Given the description of an element on the screen output the (x, y) to click on. 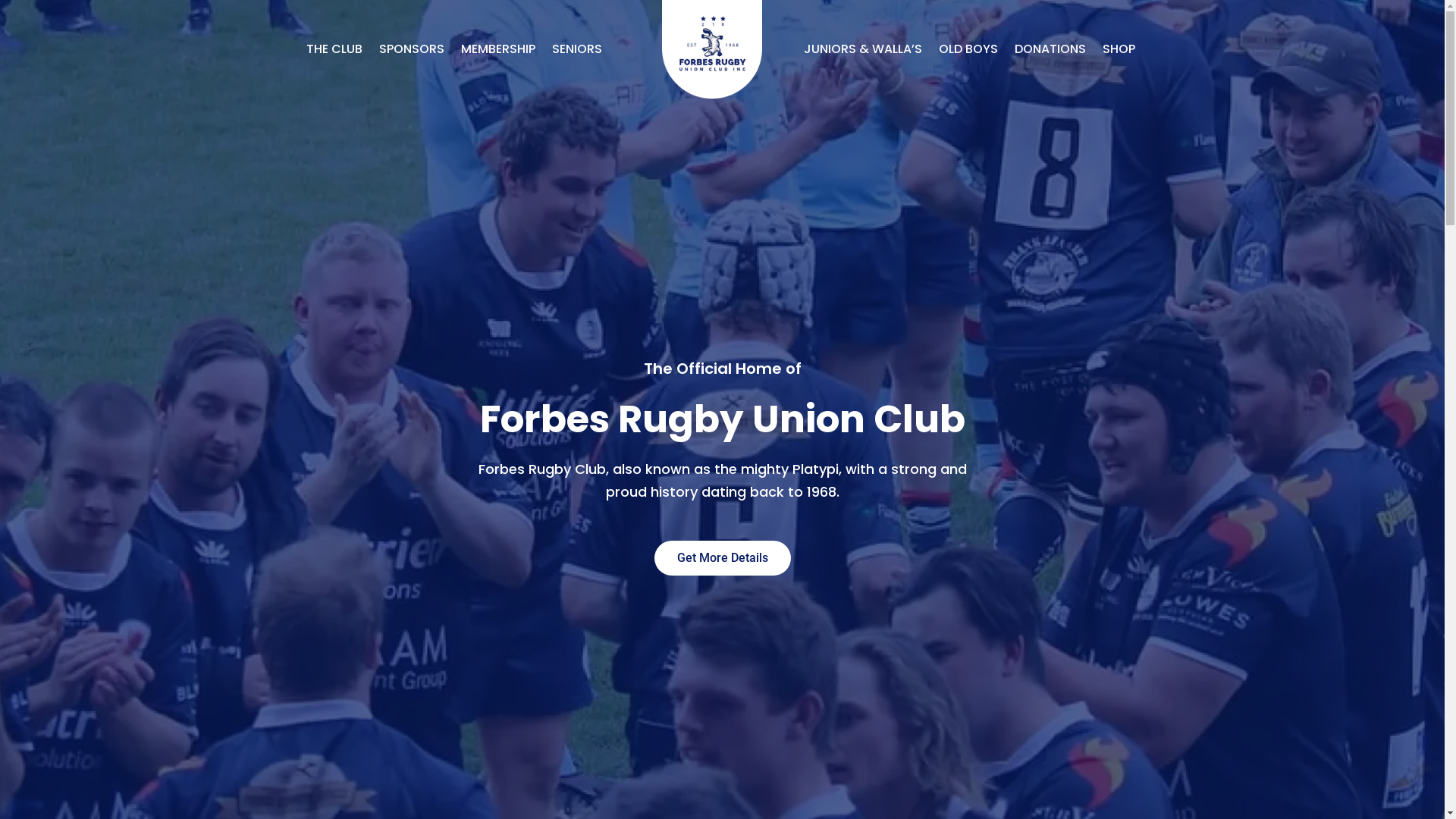
SHOP Element type: text (1118, 48)
DONATIONS Element type: text (1050, 48)
Get More Details Element type: text (721, 557)
OLD BOYS Element type: text (968, 48)
SENIORS Element type: text (575, 48)
THE CLUB Element type: text (333, 48)
MEMBERSHIP Element type: text (496, 48)
SPONSORS Element type: text (410, 48)
